Given the description of an element on the screen output the (x, y) to click on. 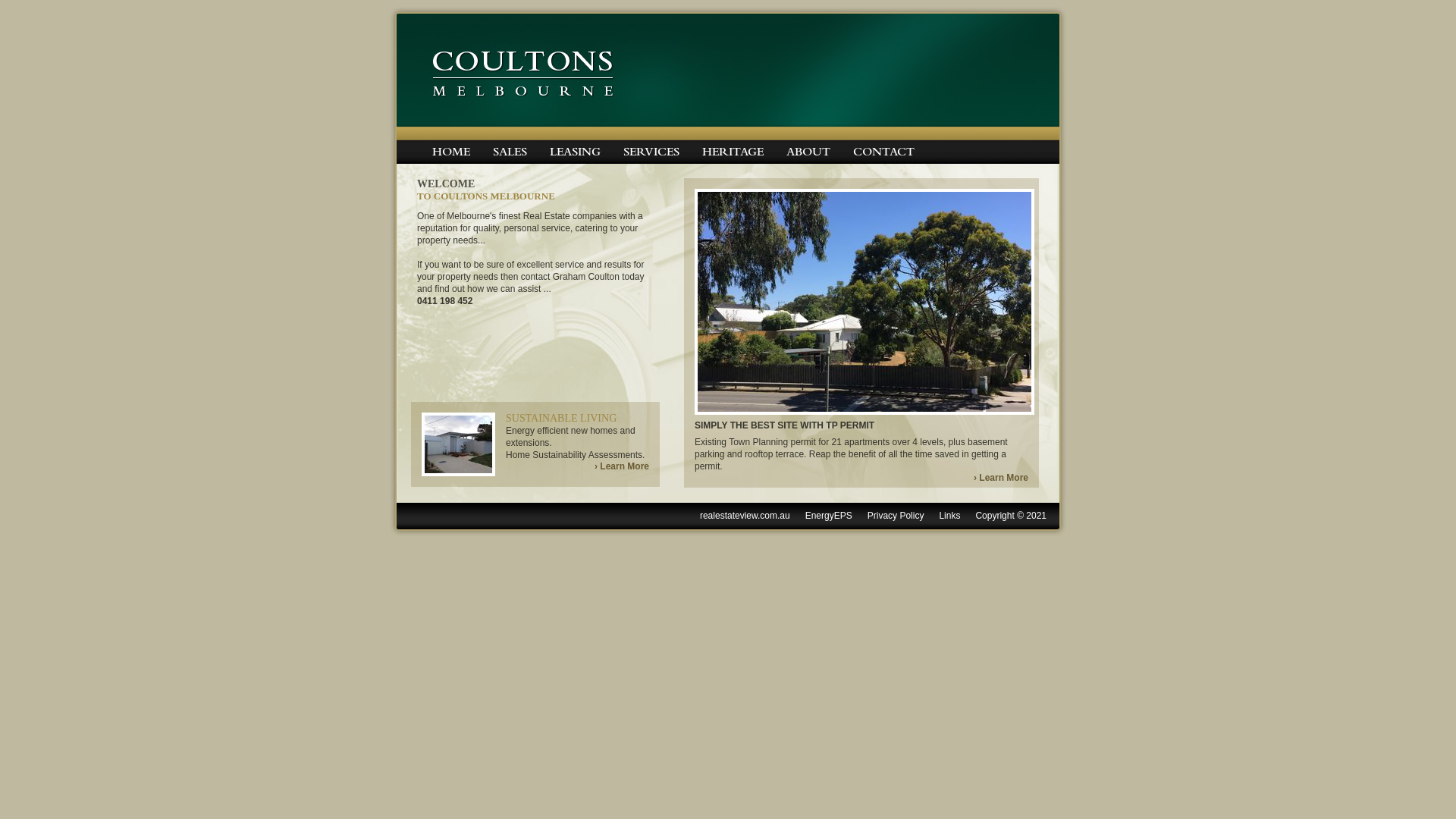
SALES Element type: text (509, 151)
SERVICES Element type: text (651, 151)
LEASING Element type: text (574, 151)
HOME Element type: text (451, 151)
ABOUT Element type: text (808, 151)
Privacy Policy Element type: text (895, 515)
Links Element type: text (949, 515)
realestateview.com.au Element type: text (744, 515)
EnergyEPS Element type: text (828, 515)
CONTACT Element type: text (883, 151)
HERITAGE Element type: text (732, 151)
